Given the description of an element on the screen output the (x, y) to click on. 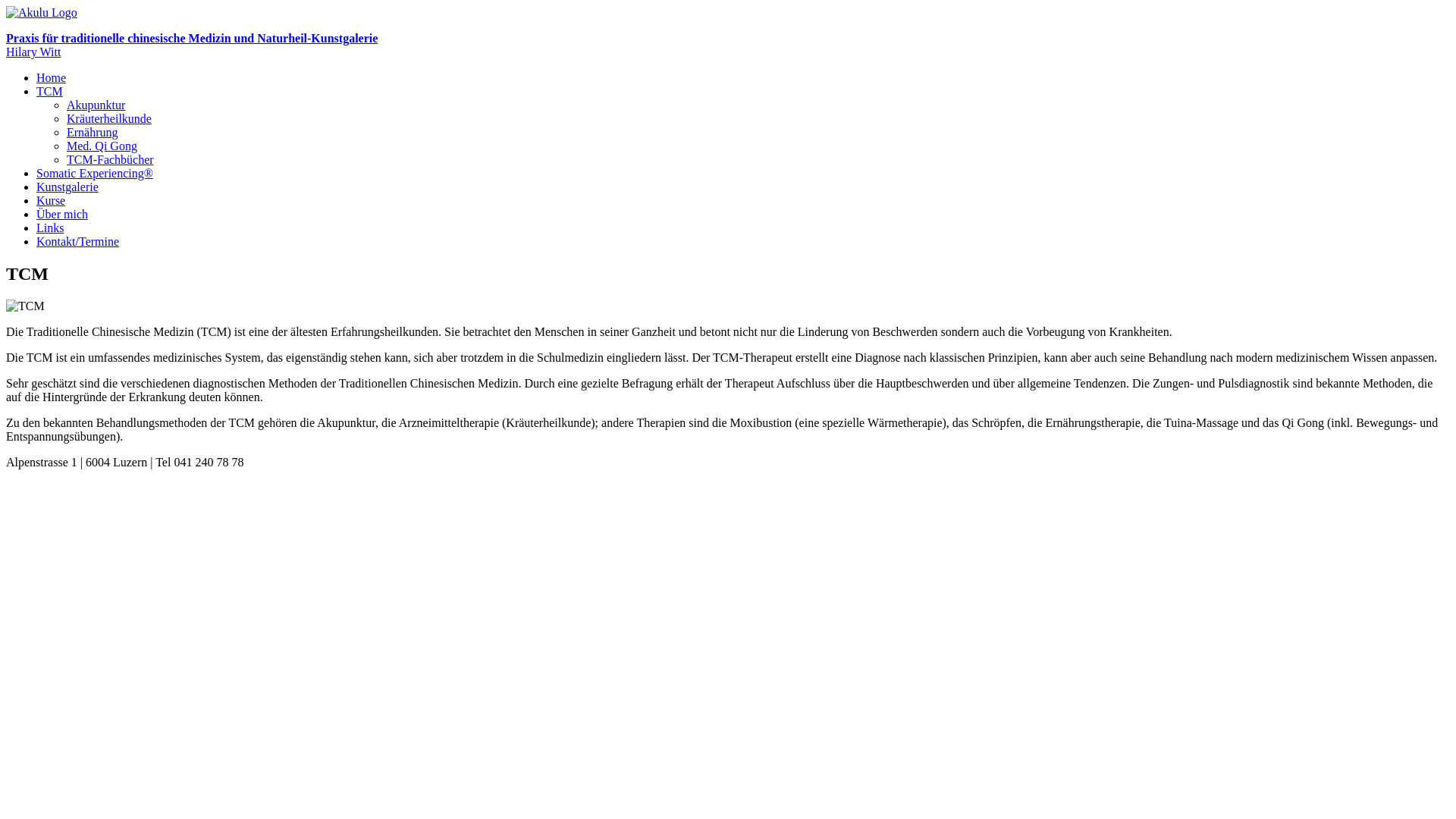
Links Element type: text (49, 227)
Kunstgalerie Element type: text (67, 186)
Home Element type: text (50, 77)
Akupunktur Element type: text (95, 104)
Kurse Element type: text (50, 200)
TCM Element type: text (49, 90)
Med. Qi Gong Element type: text (101, 145)
Kontakt/Termine Element type: text (77, 241)
